Given the description of an element on the screen output the (x, y) to click on. 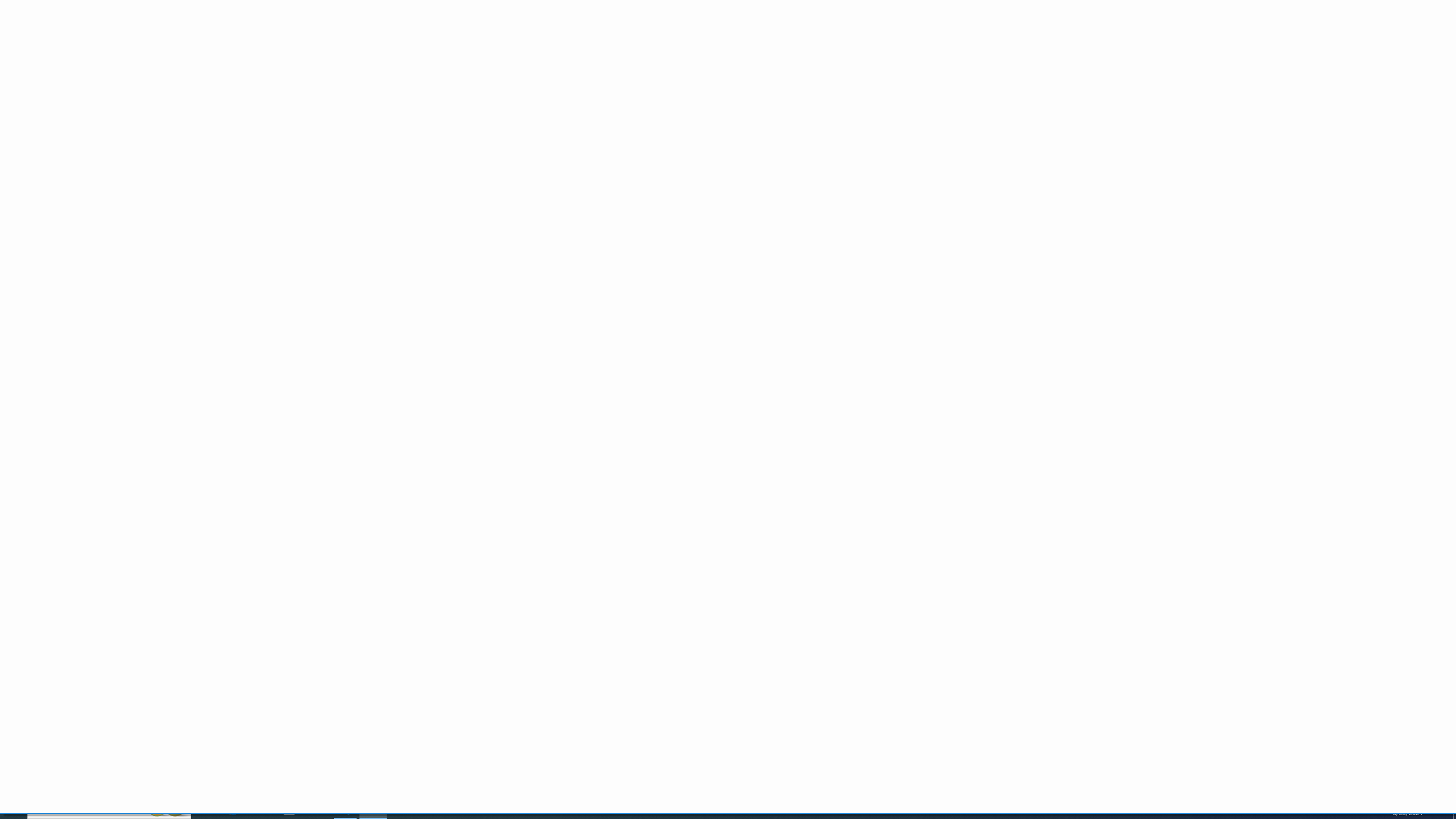
Office Clipboard... (88, 85)
Explanatory Text (671, 65)
Bad (671, 49)
Show Phonetic Field (231, 67)
Format as Table (563, 58)
Note (852, 65)
Decrease Decimal (489, 67)
Comma Style (457, 67)
Row Down (887, 56)
Increase Decimal (474, 67)
Linked Cell (791, 65)
Increase Indent (320, 67)
